Given the description of an element on the screen output the (x, y) to click on. 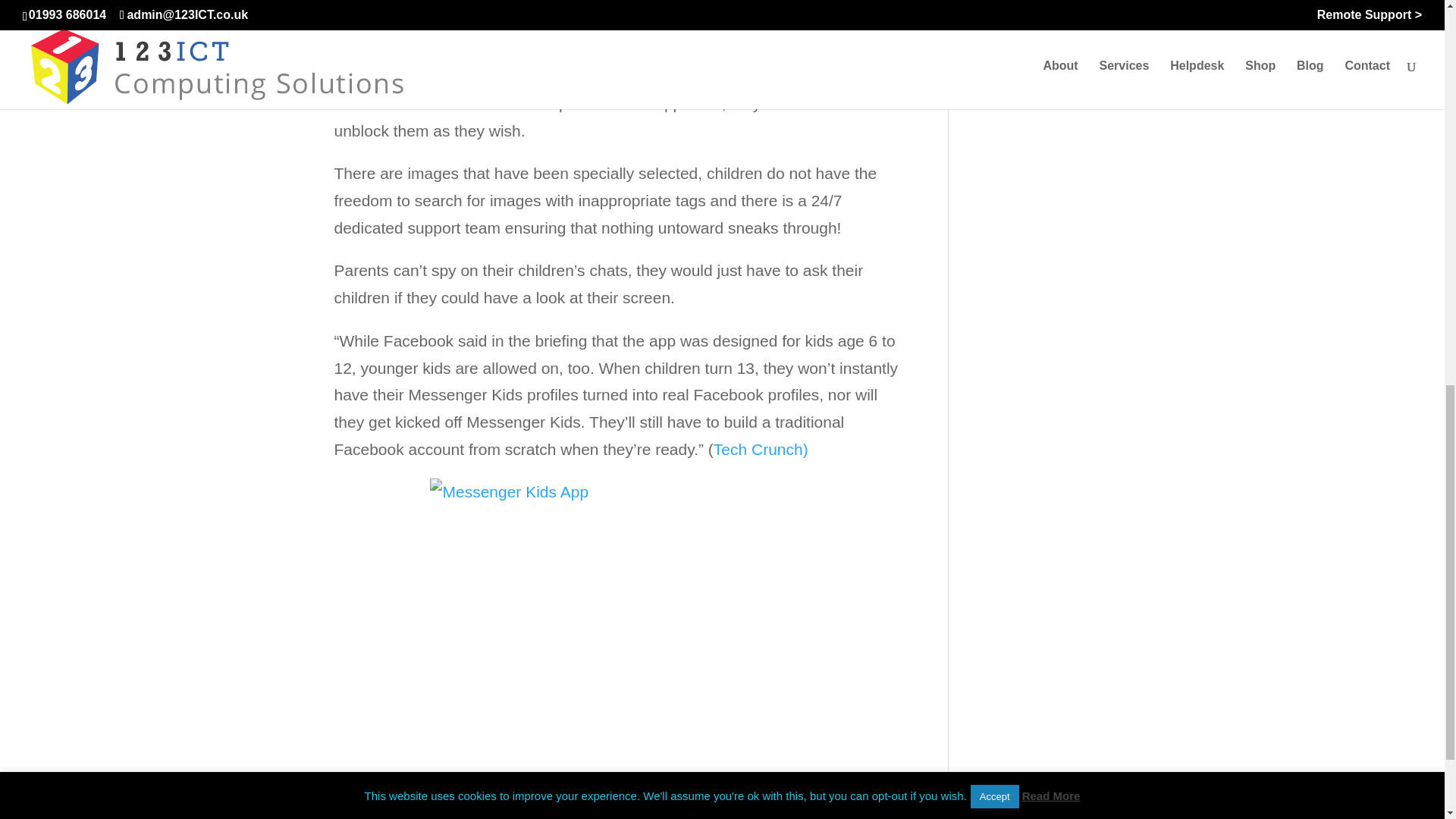
Create Day 24 (1022, 7)
Tech Crunch (610, 7)
SUPPORT (1083, 808)
